Given the description of an element on the screen output the (x, y) to click on. 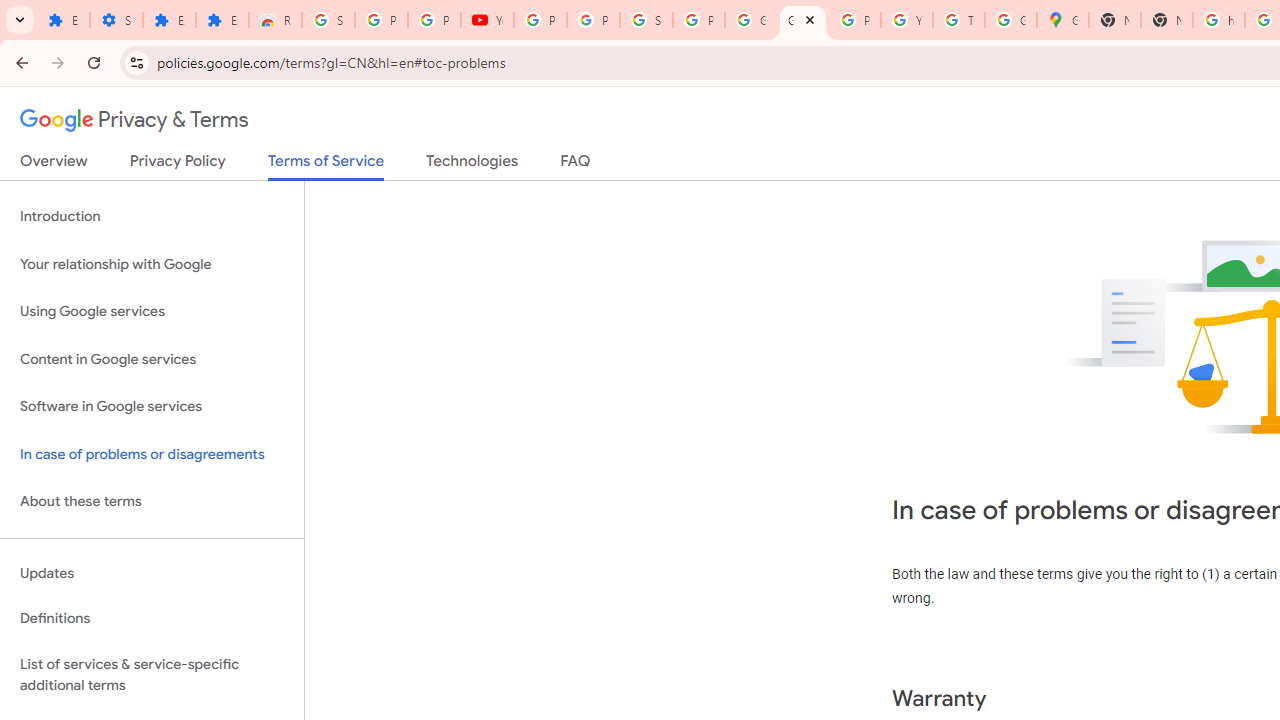
Google Account (750, 20)
YouTube (906, 20)
Terms of Service (326, 166)
FAQ (575, 165)
Technologies (472, 165)
About these terms (152, 502)
Your relationship with Google (152, 263)
Settings (116, 20)
